Given the description of an element on the screen output the (x, y) to click on. 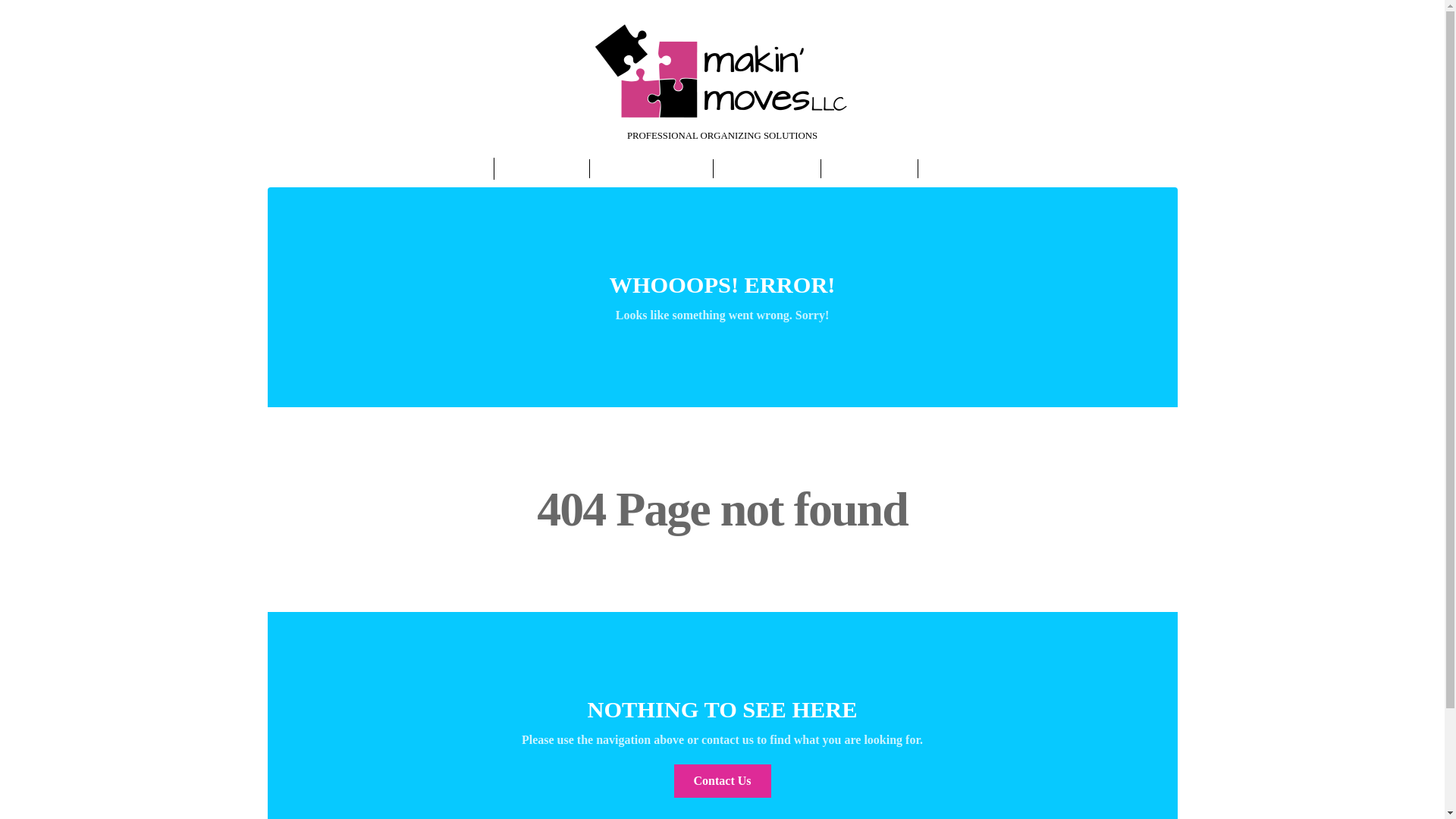
MEMBERSHIPS (962, 168)
CONTACT ME (861, 168)
ORGANIZING TIPS (643, 168)
PROFESSIONAL ORGANIZING SOLUTIONS (722, 102)
TESTIMONIALS (759, 168)
Contact Us (721, 780)
HOME (458, 168)
NOTHING TO SEE HERE (721, 709)
